Given the description of an element on the screen output the (x, y) to click on. 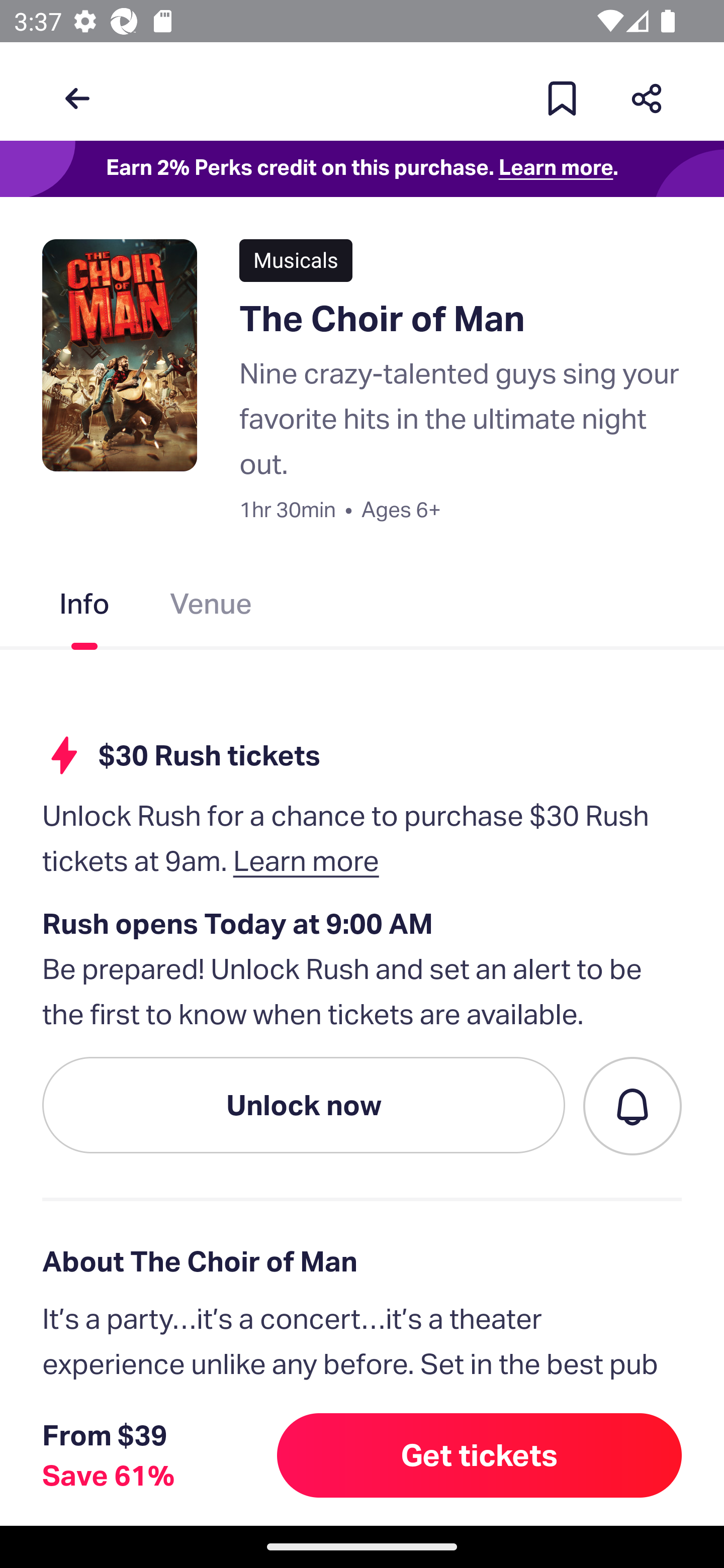
Earn 2% Perks credit on this purchase. Learn more. (362, 169)
Venue (210, 607)
Unlock now (303, 1105)
About The Choir of Man (361, 1261)
Get tickets (479, 1454)
